Given the description of an element on the screen output the (x, y) to click on. 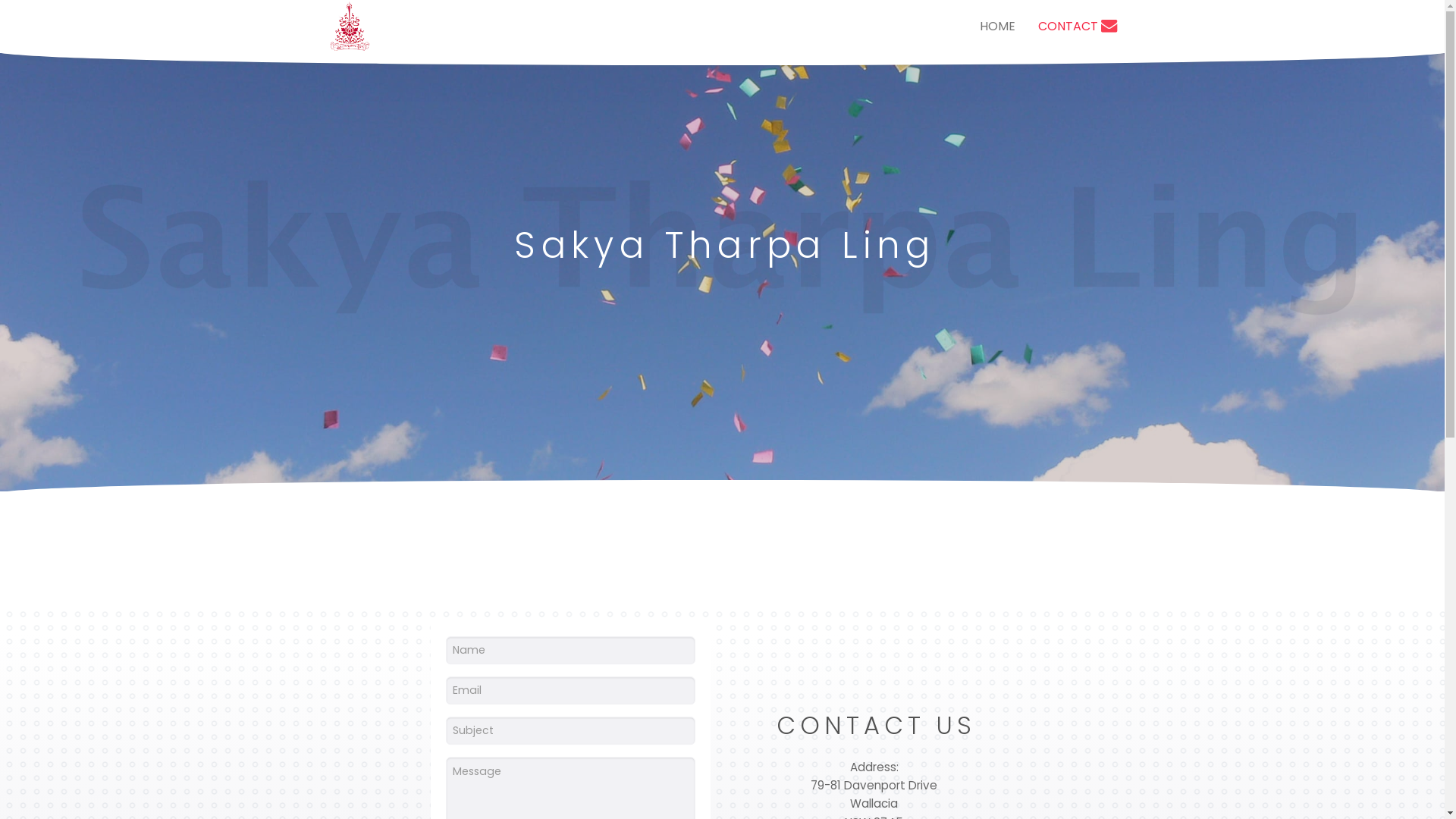
CONTACT Element type: text (1077, 26)
HOME Element type: text (996, 26)
